Given the description of an element on the screen output the (x, y) to click on. 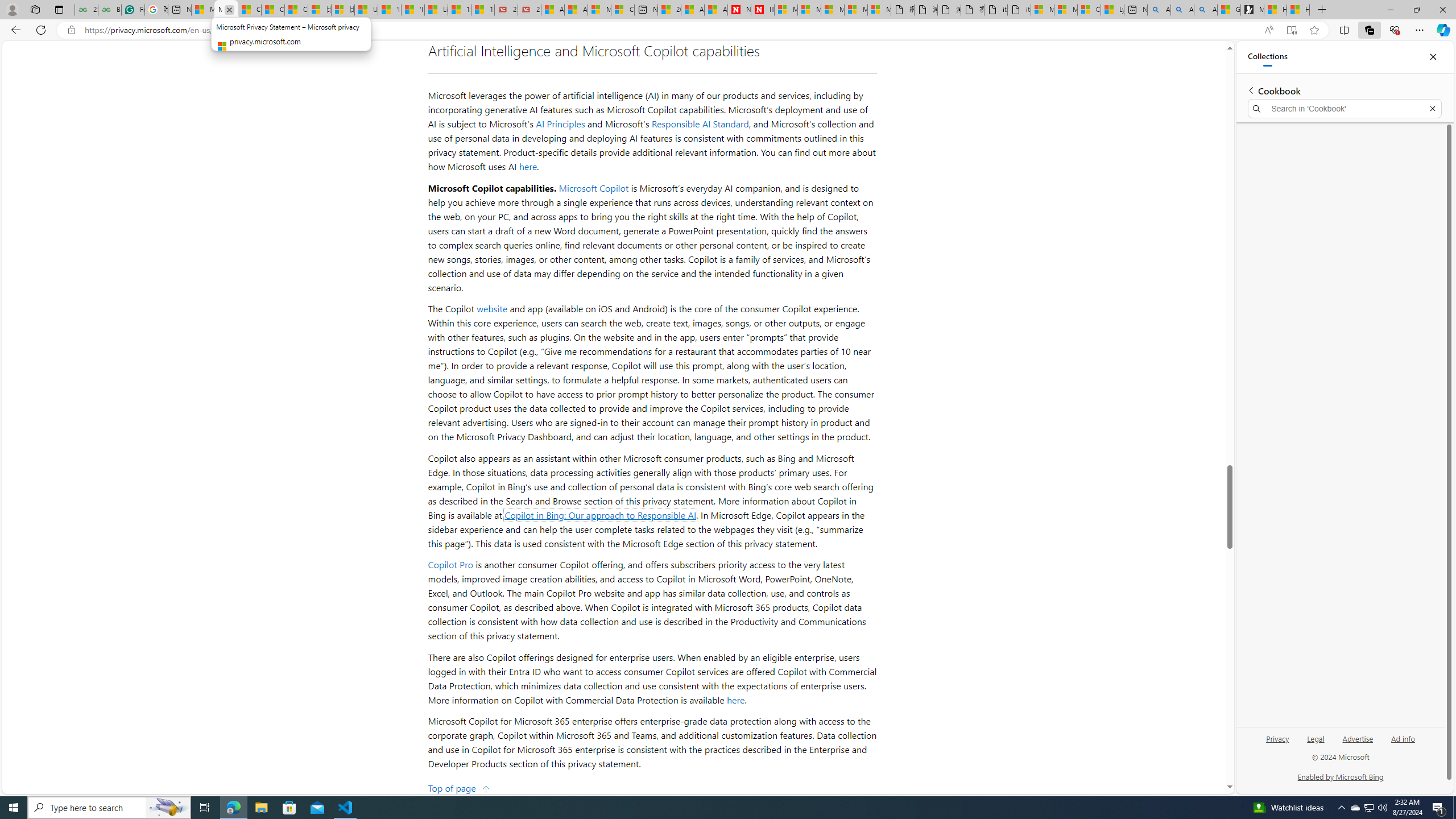
Exit search (1432, 108)
Illness news & latest pictures from Newsweek.com (761, 9)
Back to list of collections (1250, 90)
Search in 'Cookbook' (1345, 108)
Consumer Health Data Privacy Policy (1089, 9)
25 Basic Linux Commands For Beginners - GeeksforGeeks (86, 9)
